Given the description of an element on the screen output the (x, y) to click on. 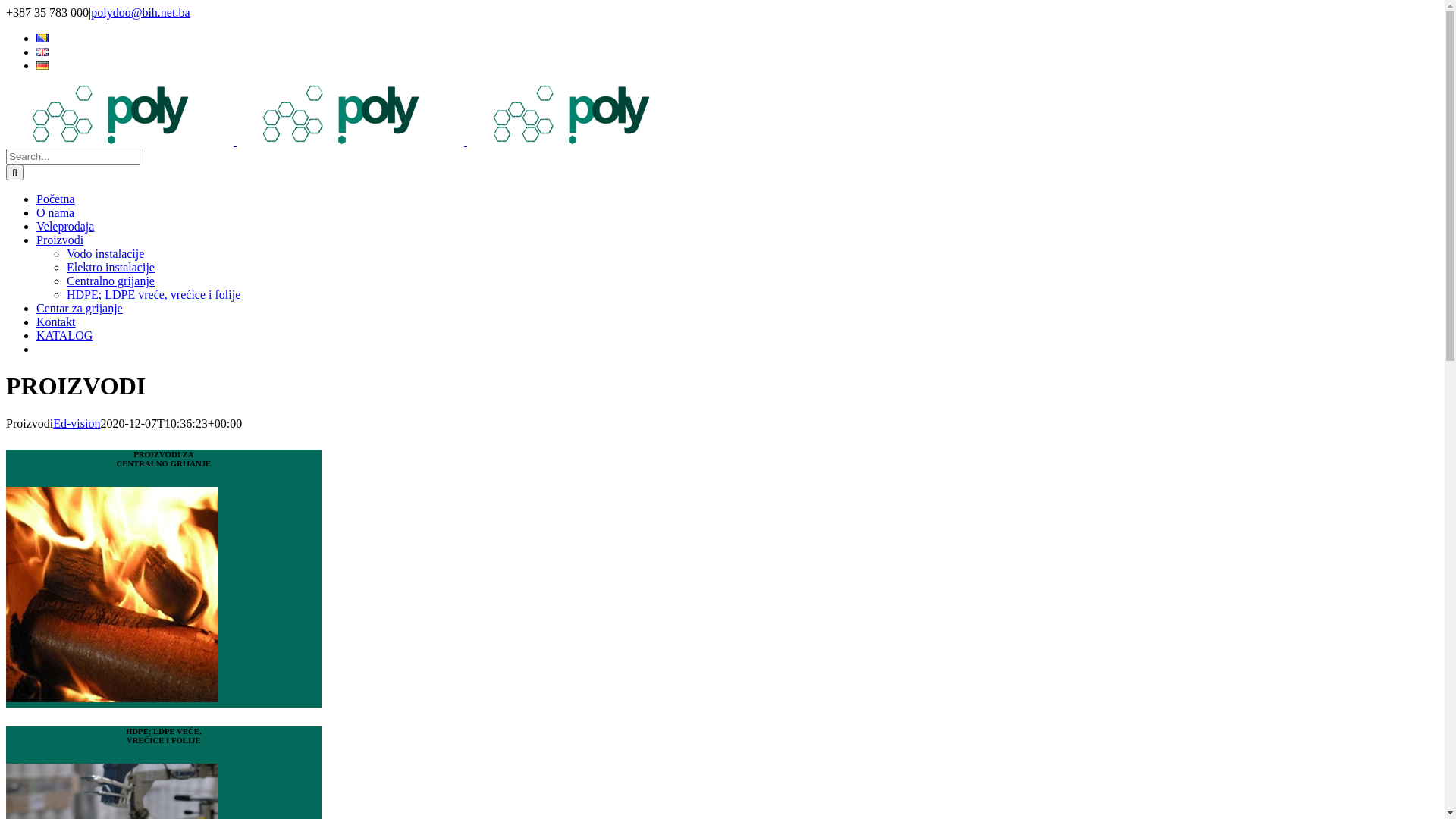
polydoo@bih.net.ba Element type: text (140, 12)
KATALOG Element type: text (64, 335)
Ed-vision Element type: text (76, 423)
Veleprodaja Element type: text (73, 225)
Centralno grijanje Element type: text (110, 280)
O nama Element type: text (63, 212)
Centar za grijanje Element type: text (88, 307)
Kontakt Element type: text (64, 321)
Elektro instalacije Element type: text (110, 266)
Vodo instalacije Element type: text (105, 253)
Skip to content Element type: text (5, 5)
Proizvodi Element type: text (77, 239)
